Given the description of an element on the screen output the (x, y) to click on. 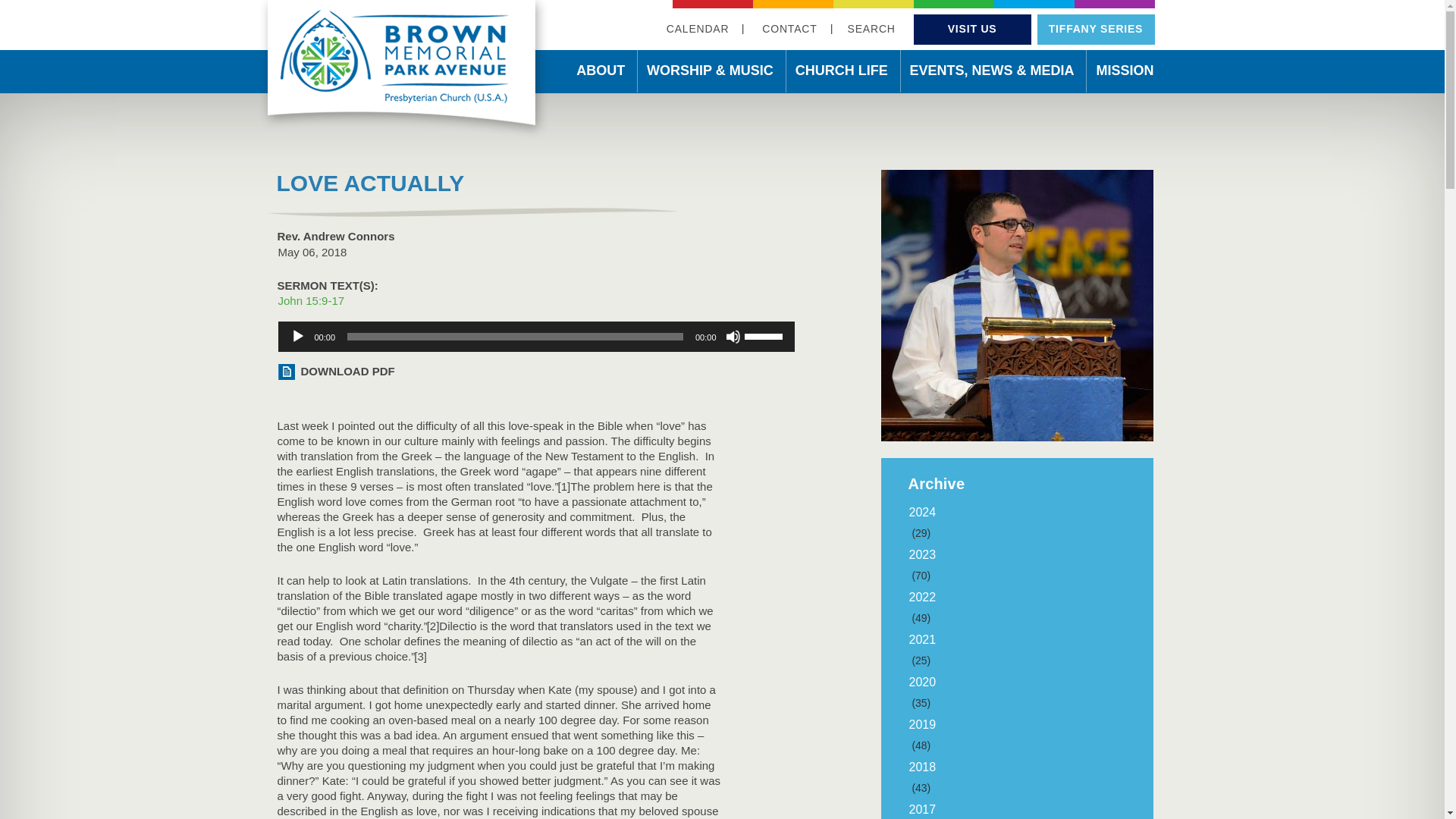
CALENDAR (697, 28)
CHURCH LIFE (841, 72)
Play (296, 336)
TIFFANY SERIES (1095, 28)
ABOUT (600, 72)
CONTACT (788, 28)
Mute (732, 336)
SEARCH (871, 28)
VISIT US (972, 28)
